Given the description of an element on the screen output the (x, y) to click on. 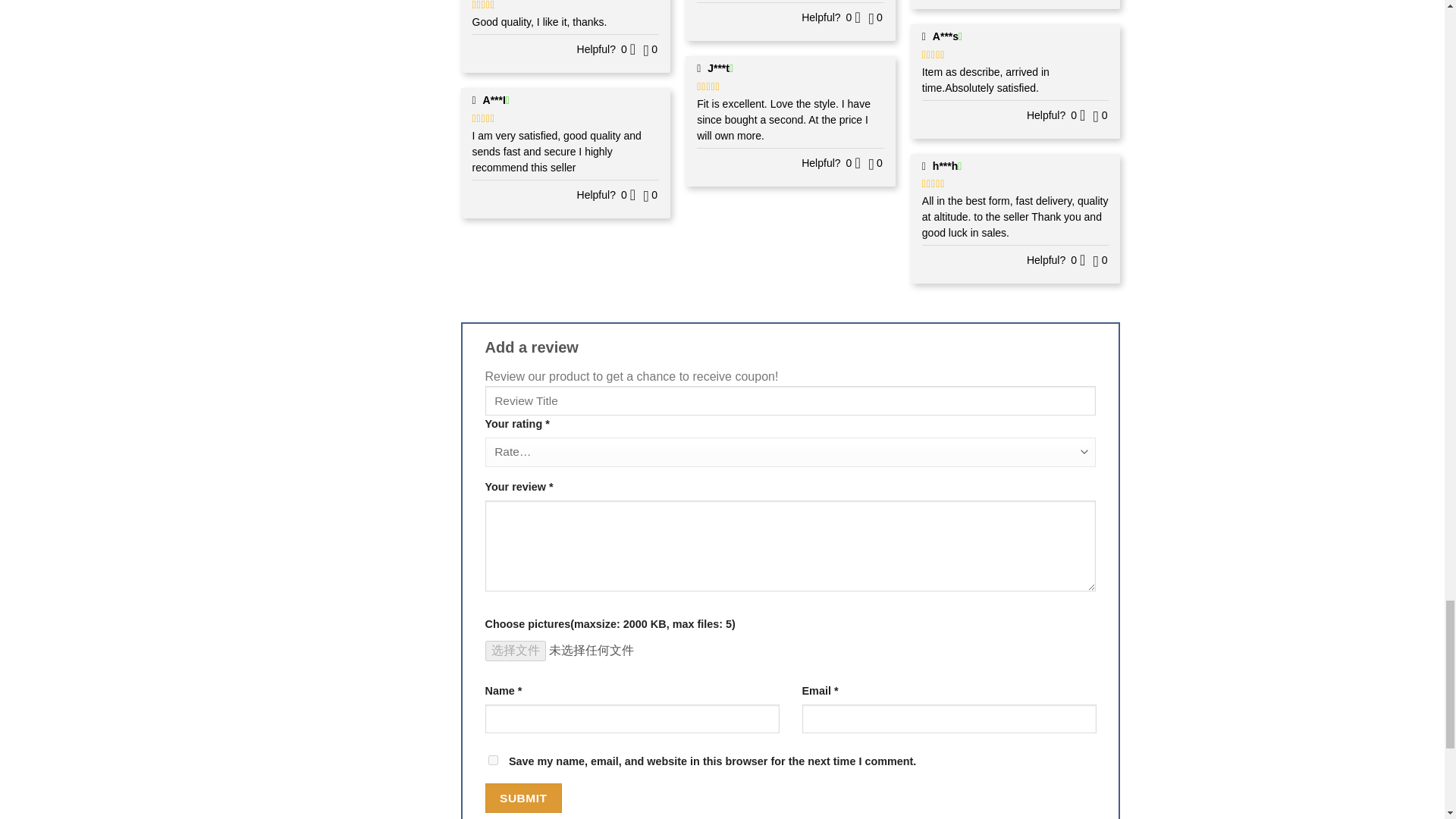
yes (492, 759)
Submit (523, 797)
Submit (523, 797)
